Given the description of an element on the screen output the (x, y) to click on. 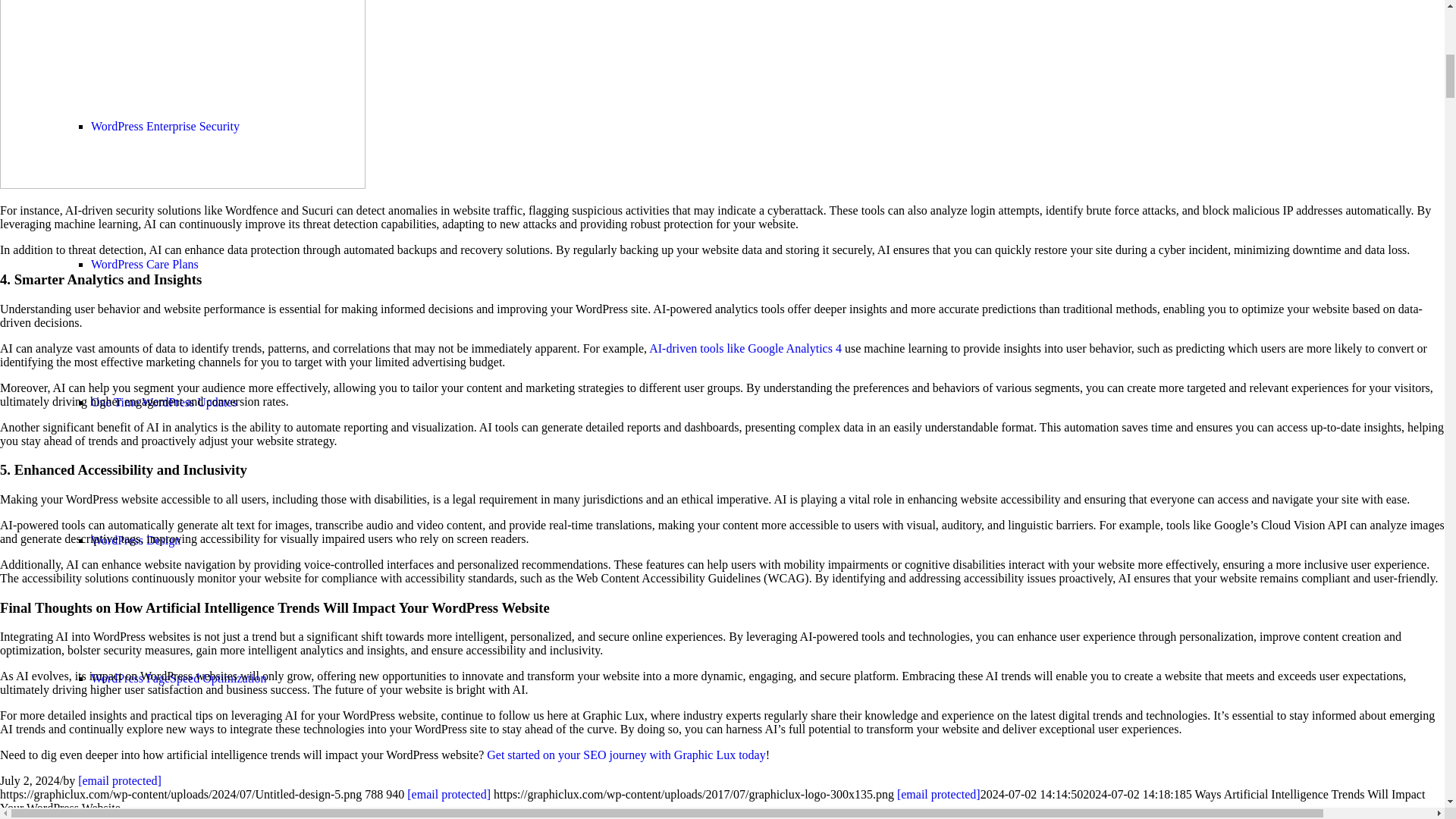
WordPress Consultation (149, 814)
WordPress Care Plans (144, 264)
WordPress Enterprise Security (165, 125)
One Time WordPress Updates (163, 401)
Mastering SEO for WordPress Feature Image (115, 816)
WordPress Design (135, 540)
WordPress PageSpeed Optimization (178, 677)
